Given the description of an element on the screen output the (x, y) to click on. 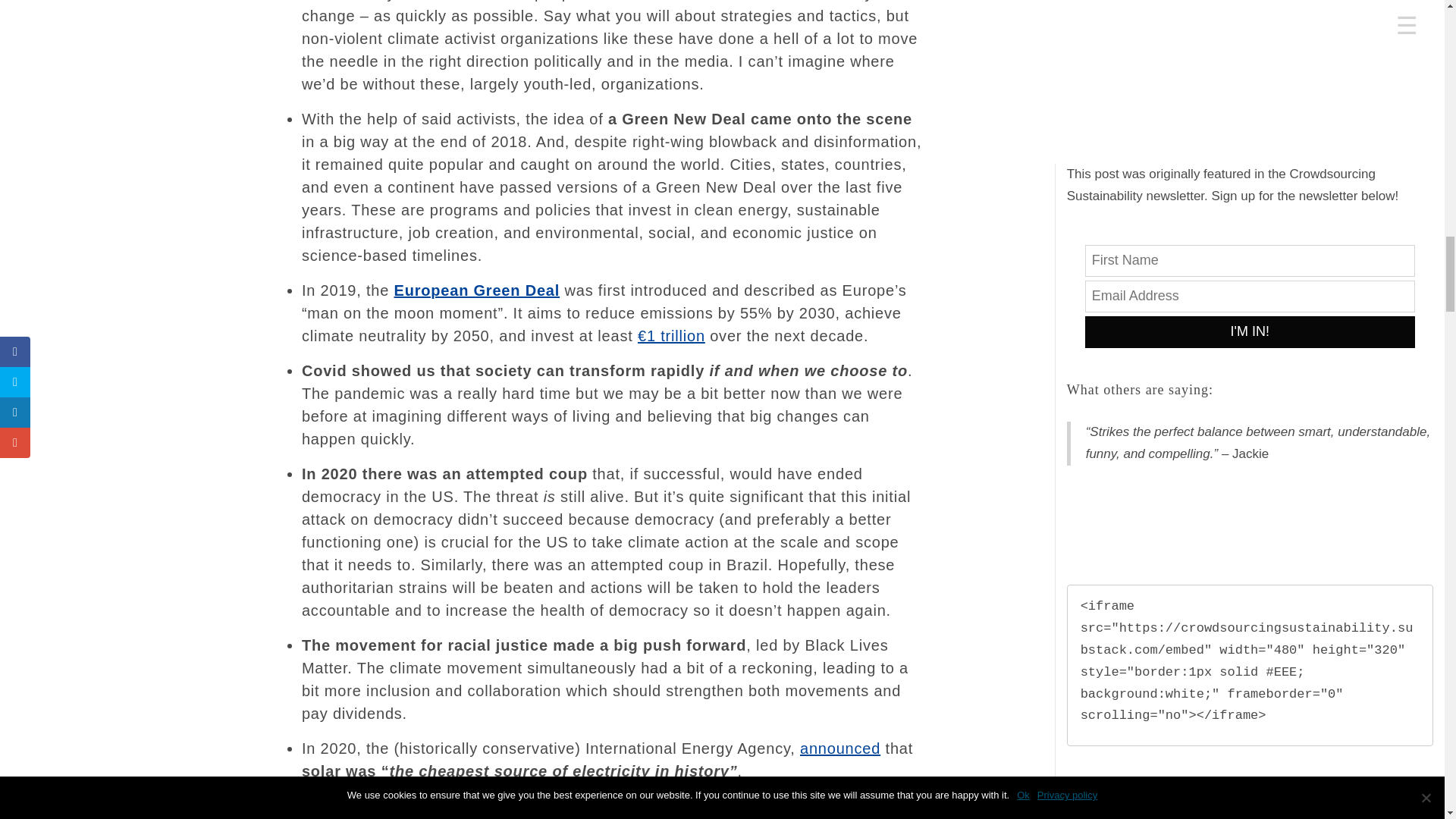
made clear (680, 805)
European Green Deal (477, 289)
announced (839, 748)
